Given the description of an element on the screen output the (x, y) to click on. 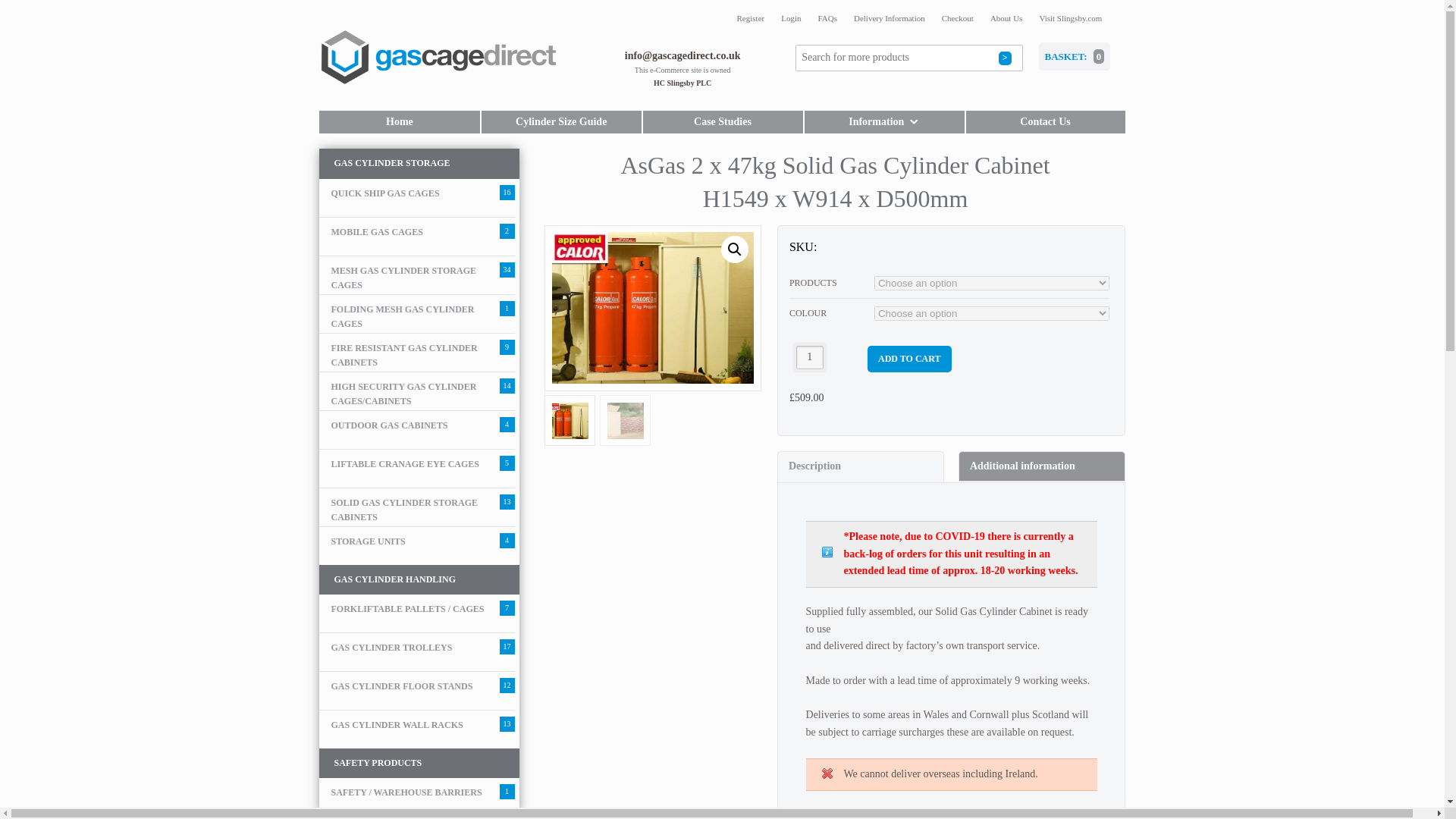
BASKET: 0 (1074, 56)
ADD TO CART (908, 358)
Visit Slingsby.com (1069, 18)
Delivery Information (889, 18)
View your shopping cart (1074, 56)
FAQs (826, 18)
1 (810, 357)
About Us (1005, 18)
Additional information (1041, 465)
Home (399, 121)
